Given the description of an element on the screen output the (x, y) to click on. 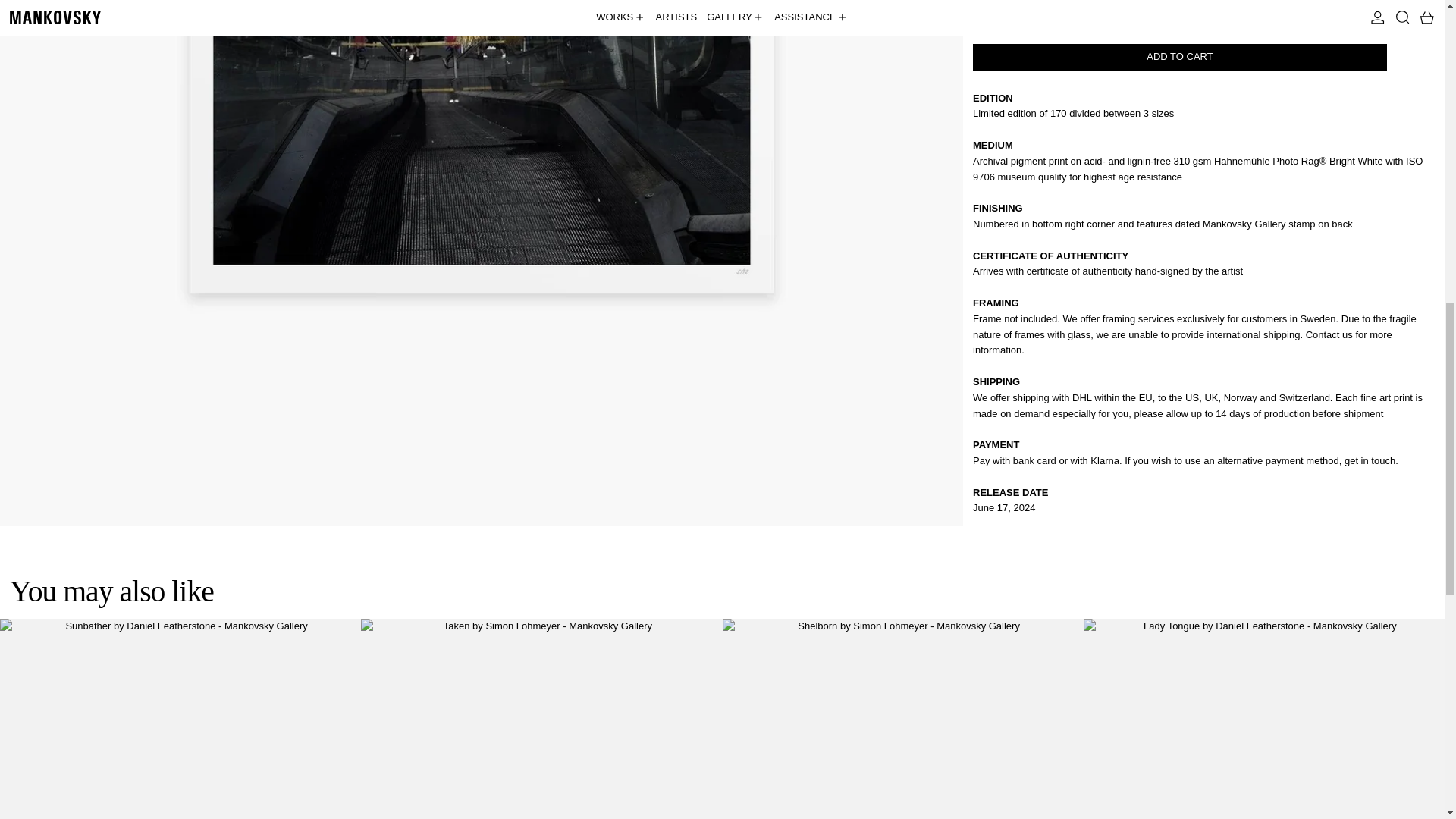
Taken (541, 719)
Sunbather (180, 719)
Shelborn (902, 719)
